Given the description of an element on the screen output the (x, y) to click on. 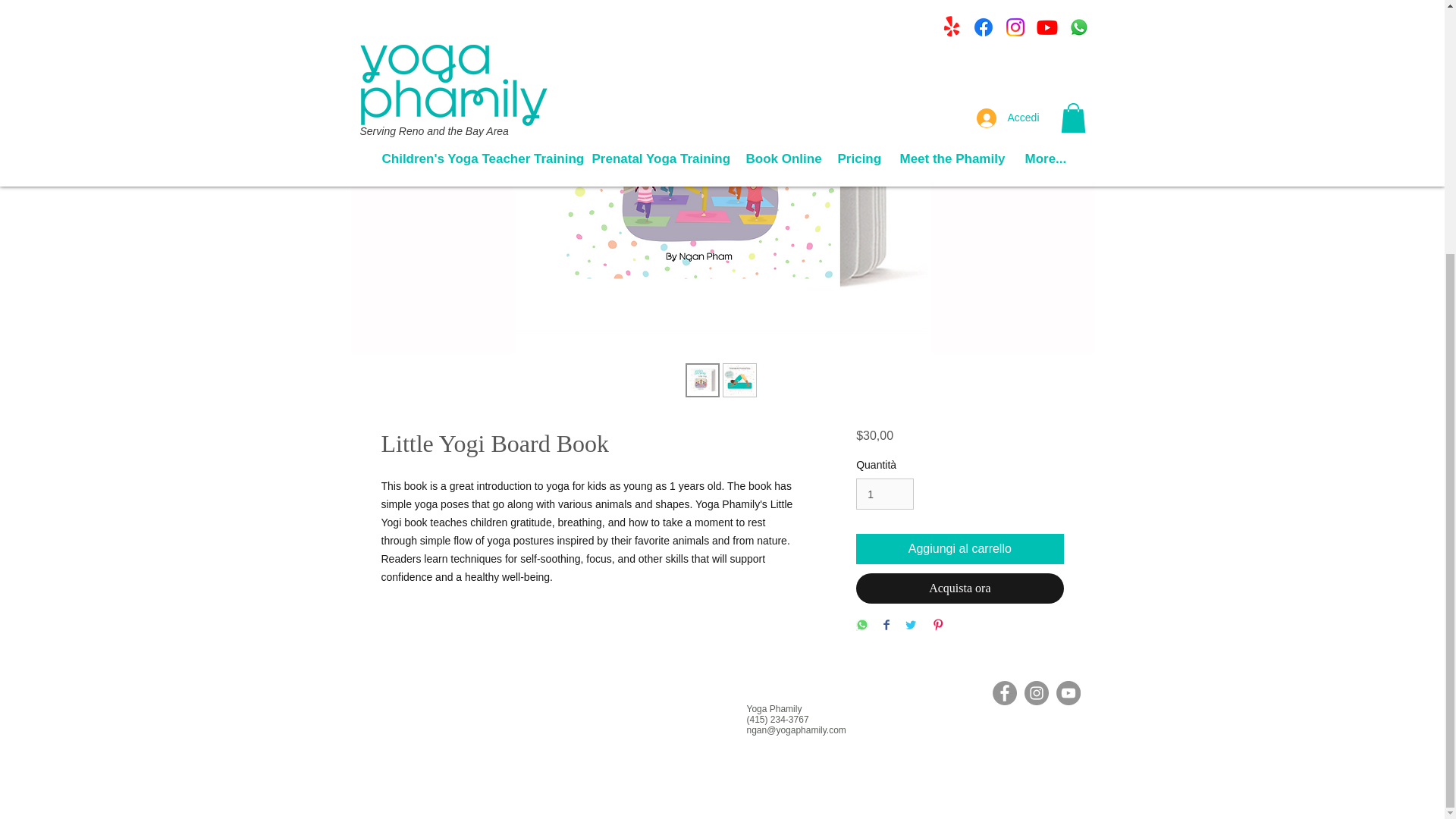
1 (885, 493)
Acquista ora (959, 588)
Aggiungi al carrello (959, 548)
